Given the description of an element on the screen output the (x, y) to click on. 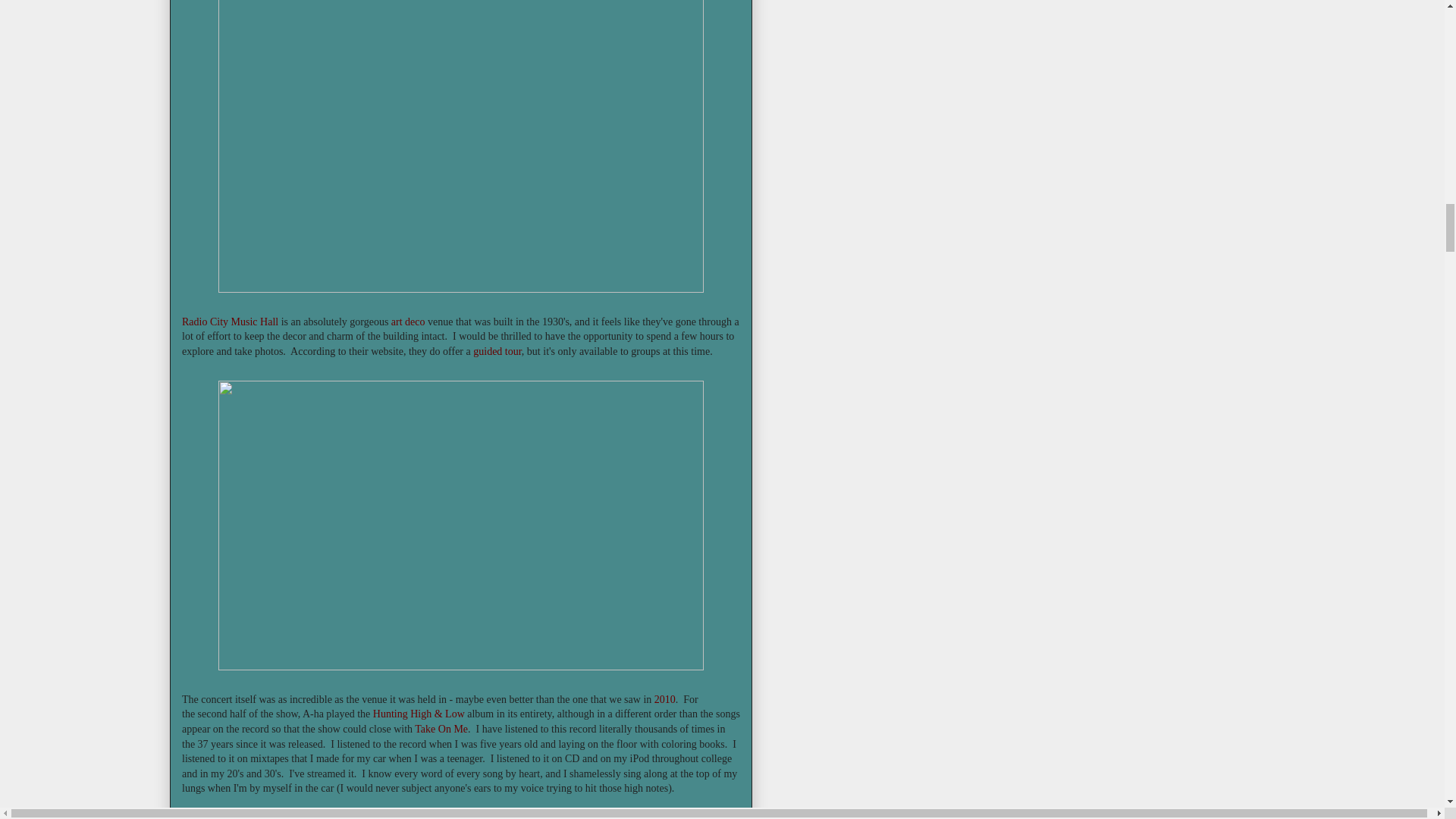
2010 (664, 699)
art deco (408, 321)
Radio City Music Hall (230, 321)
guided tour (497, 351)
